Given the description of an element on the screen output the (x, y) to click on. 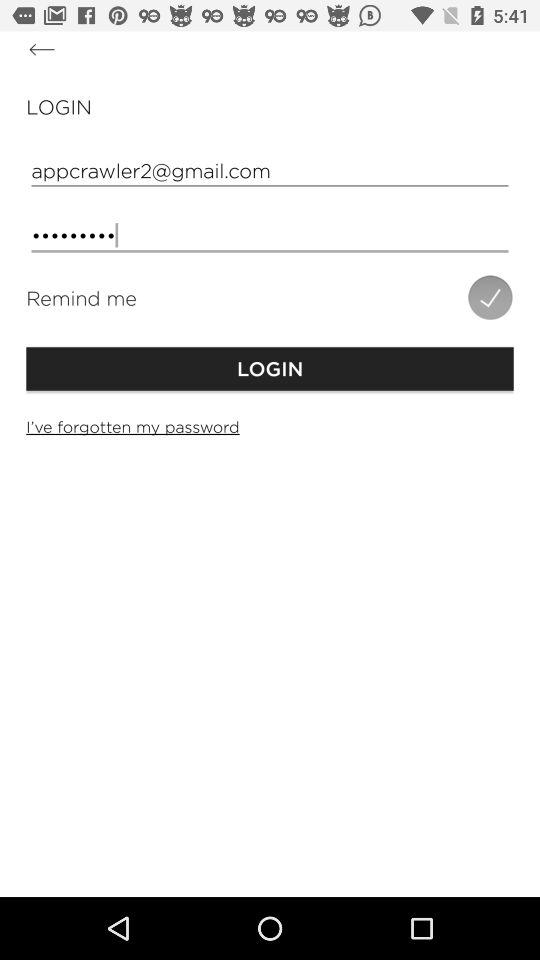
open the crowd3116 icon (269, 235)
